Given the description of an element on the screen output the (x, y) to click on. 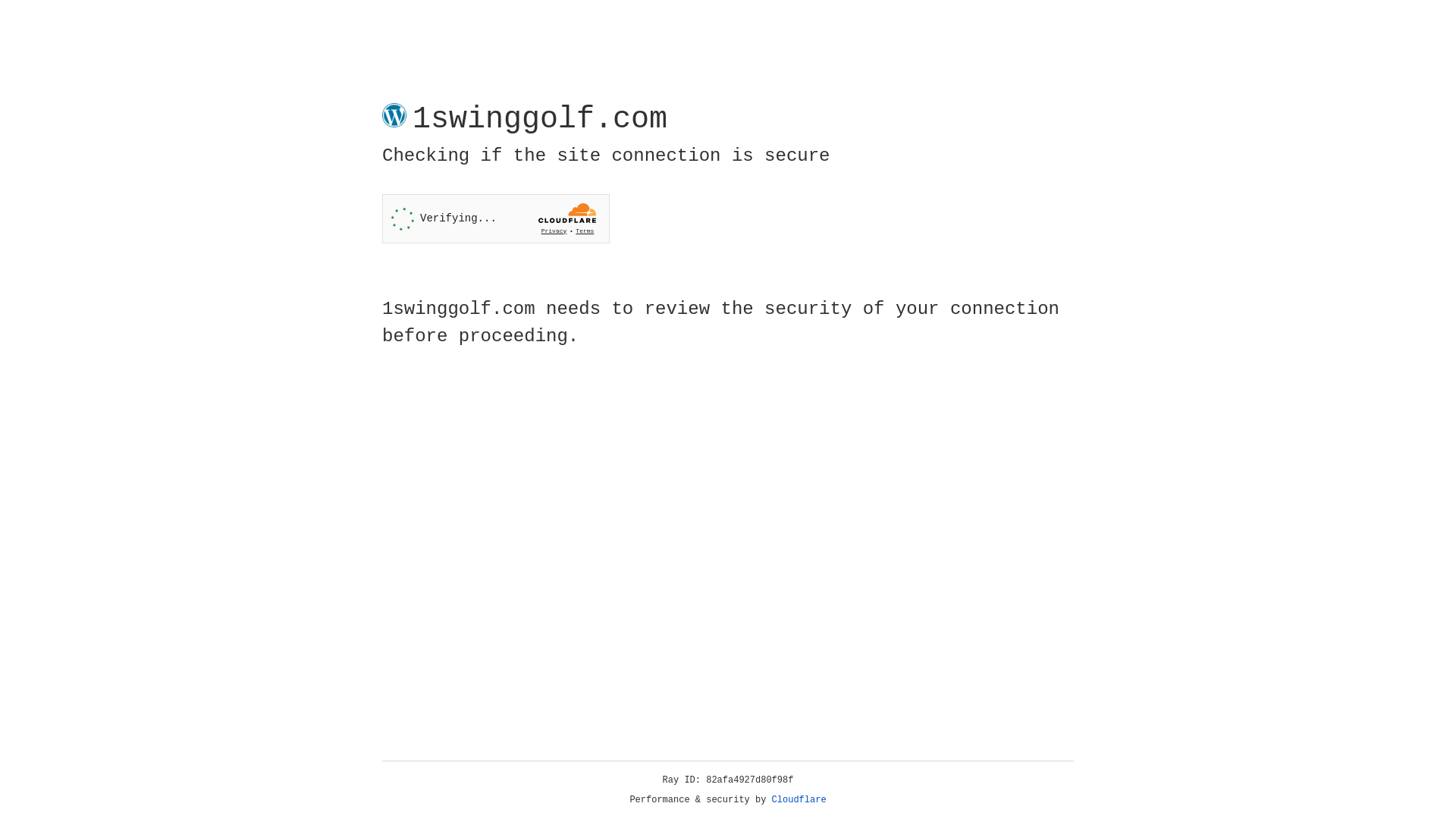
Cloudflare Element type: text (798, 799)
Widget containing a Cloudflare security challenge Element type: hover (495, 218)
